Given the description of an element on the screen output the (x, y) to click on. 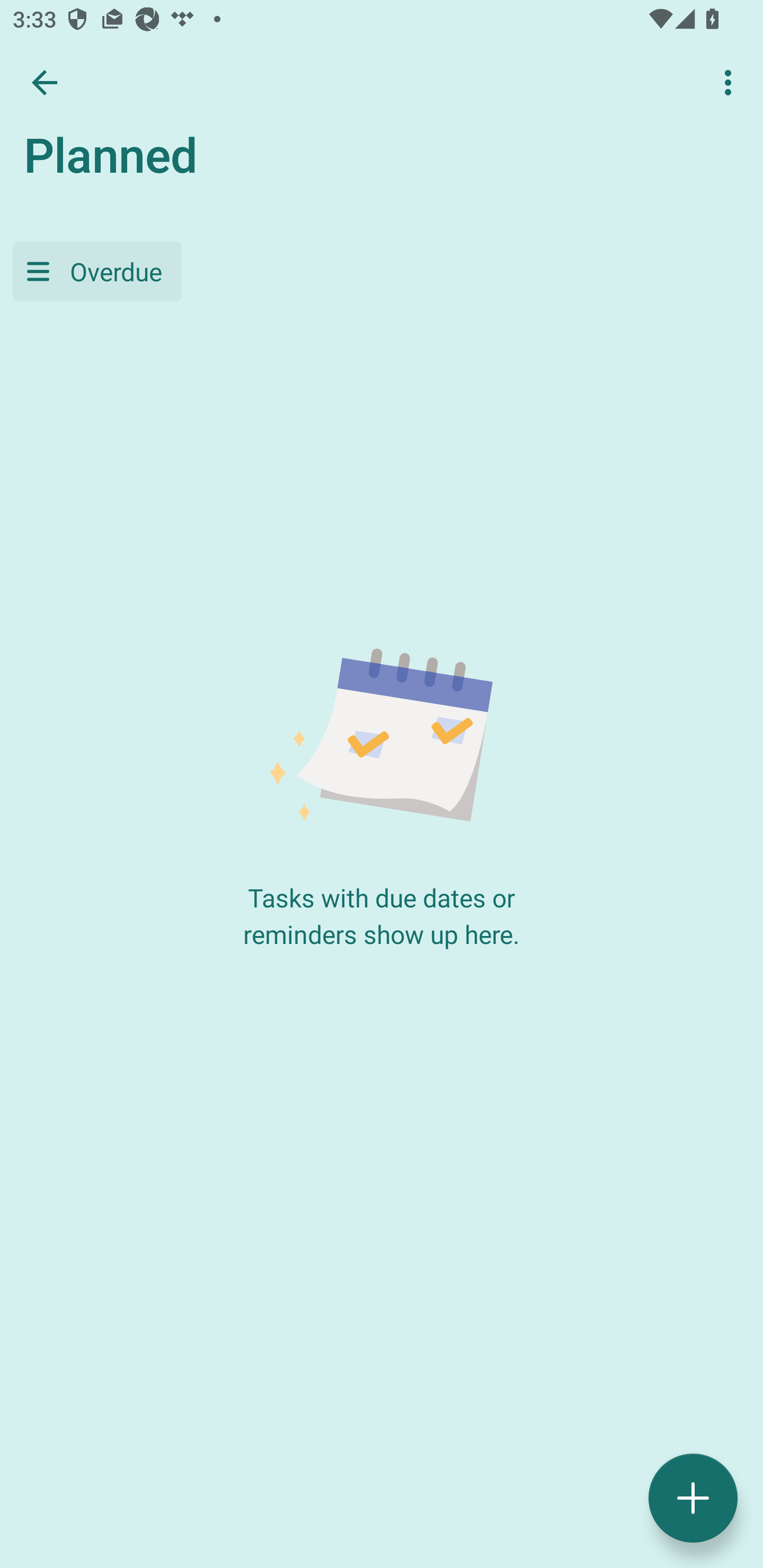
Overdue view selected (96, 271)
